Given the description of an element on the screen output the (x, y) to click on. 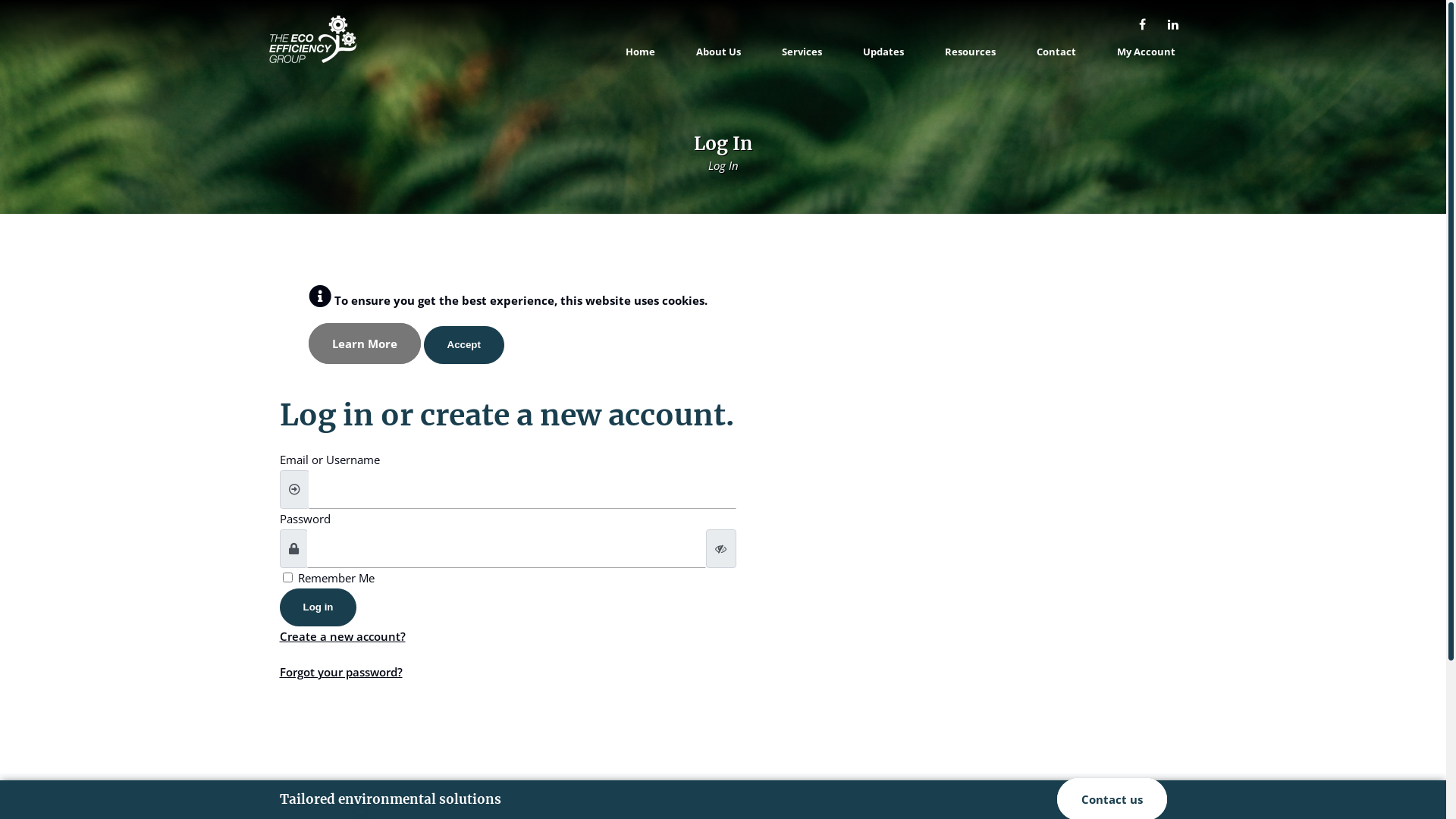
About Us Element type: text (718, 57)
Services Element type: text (801, 57)
Accept Element type: text (463, 345)
Contact Element type: text (1055, 57)
Log in Element type: text (317, 607)
Forgot your password? Element type: text (340, 671)
Updates Element type: text (882, 57)
The Ecoefficiency Group Element type: hover (312, 58)
Create a new account? Element type: text (341, 635)
Home Element type: text (639, 57)
Resources Element type: text (969, 57)
My Account Element type: text (1145, 57)
Learn More Element type: text (363, 343)
